Given the description of an element on the screen output the (x, y) to click on. 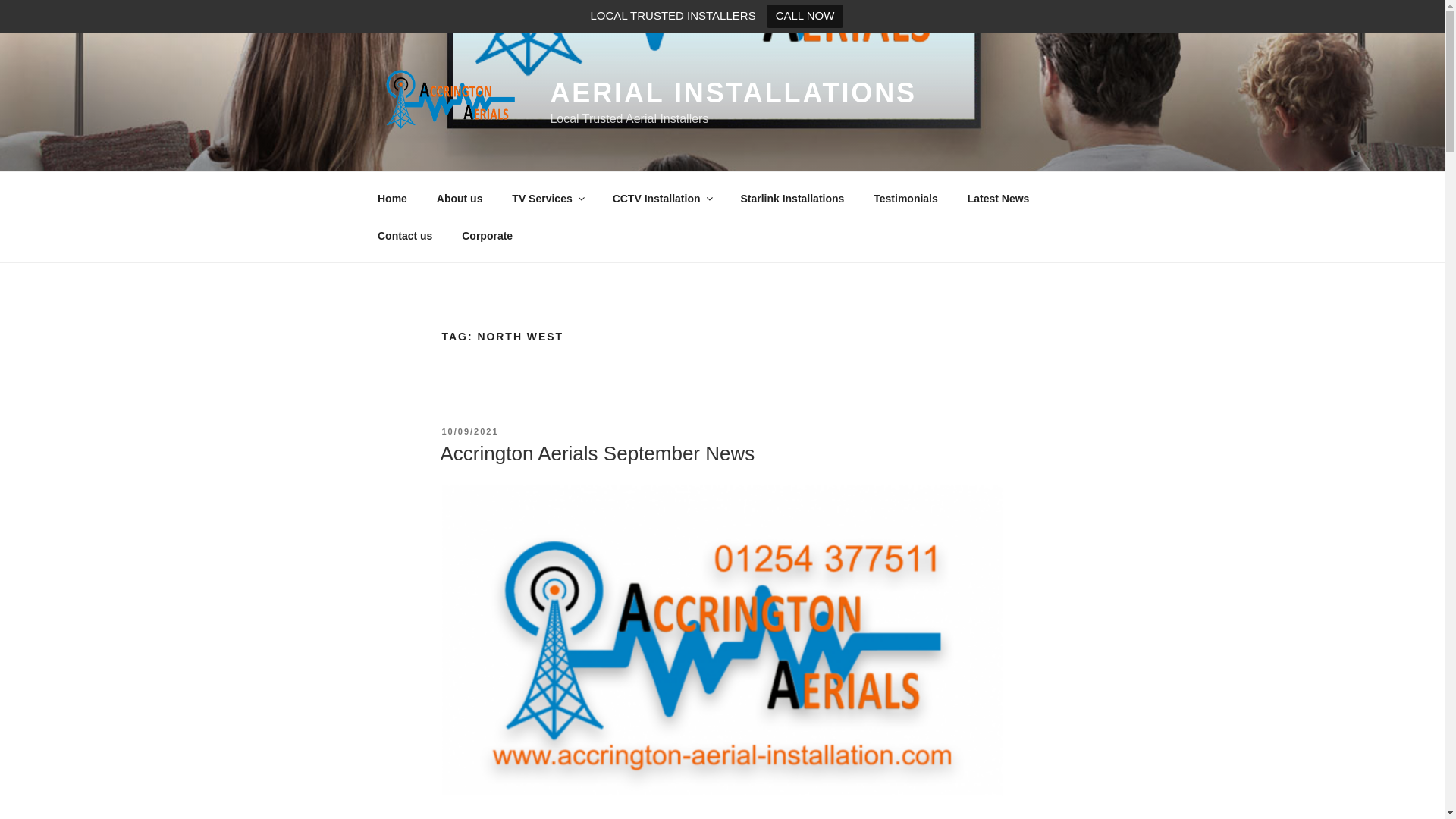
Contact us (404, 235)
AERIAL INSTALLATIONS (733, 92)
TV Services (547, 198)
Testimonials (906, 198)
CALL NOW (805, 15)
About us (459, 198)
Home (392, 198)
Accrington Aerials September News (596, 453)
Starlink Installations (791, 198)
Latest News (997, 198)
CCTV Installation (660, 198)
Corporate (486, 235)
